Given the description of an element on the screen output the (x, y) to click on. 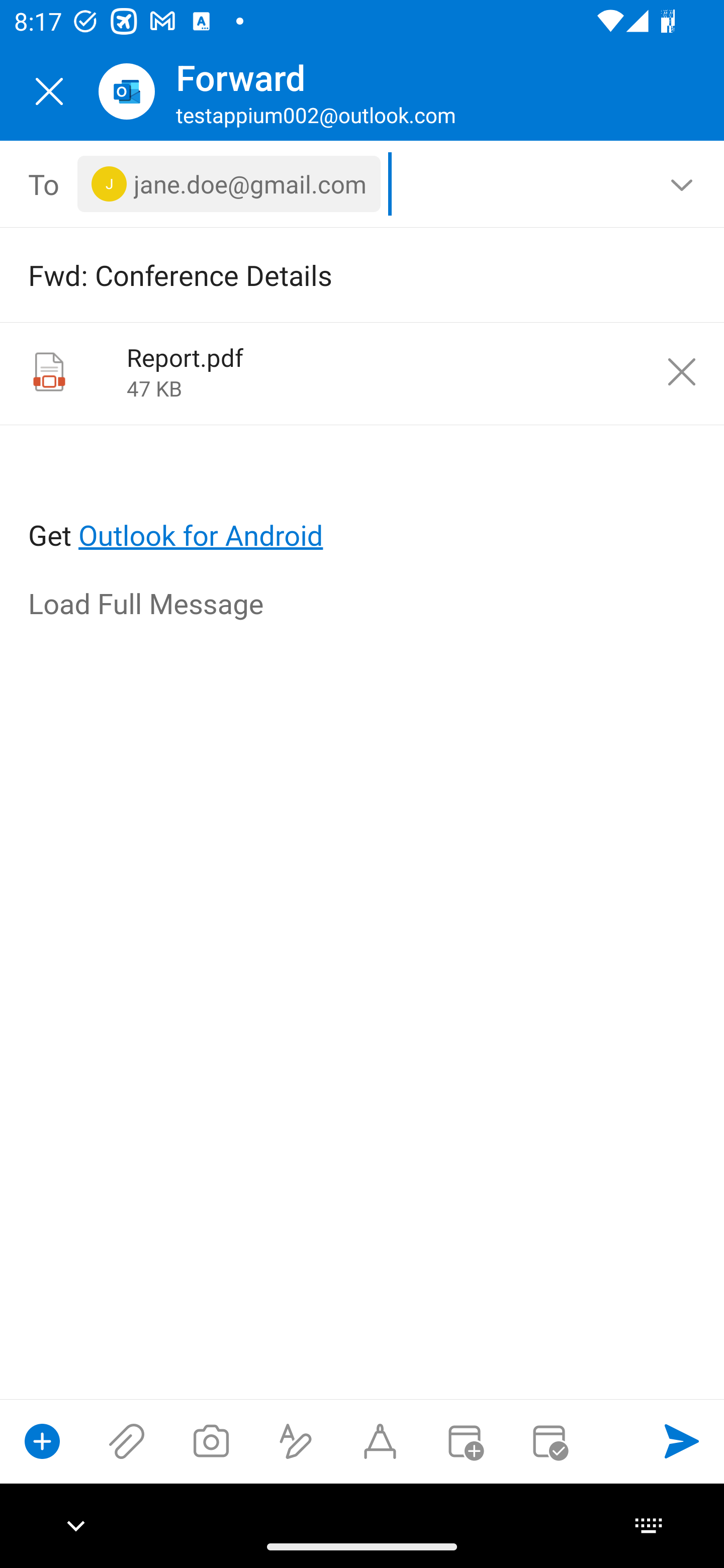
Close (49, 91)
To, 1 recipient <jane.doe@gmail.com> (362, 184)
Fwd: Conference Details (333, 274)
Report.pdf 47 KB Remove attachment Report.pdf (362, 373)
Remove attachment Report.pdf (681, 372)


Get Outlook for Android (363, 502)
Load Full Message (363, 605)
Show compose options (42, 1440)
Attach files (126, 1440)
Take a photo (210, 1440)
Show formatting options (295, 1440)
Start Ink compose (380, 1440)
Convert to event (464, 1440)
Send availability (548, 1440)
Send (681, 1440)
